Given the description of an element on the screen output the (x, y) to click on. 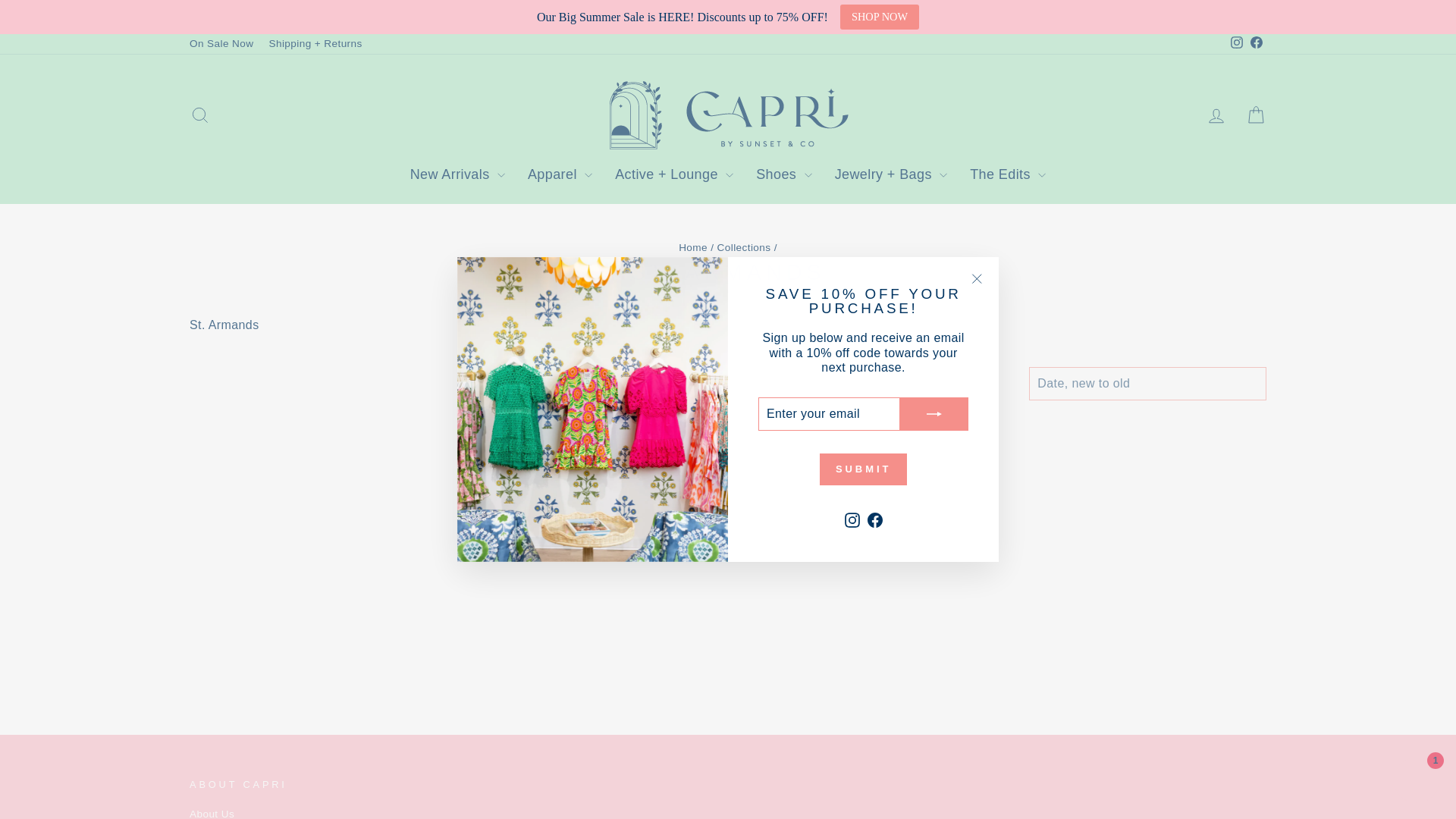
Back to the frontpage (692, 247)
icon-search (200, 115)
Shopify online store chat (1416, 781)
icon-X (976, 278)
account (1216, 115)
instagram (1236, 42)
